Given the description of an element on the screen output the (x, y) to click on. 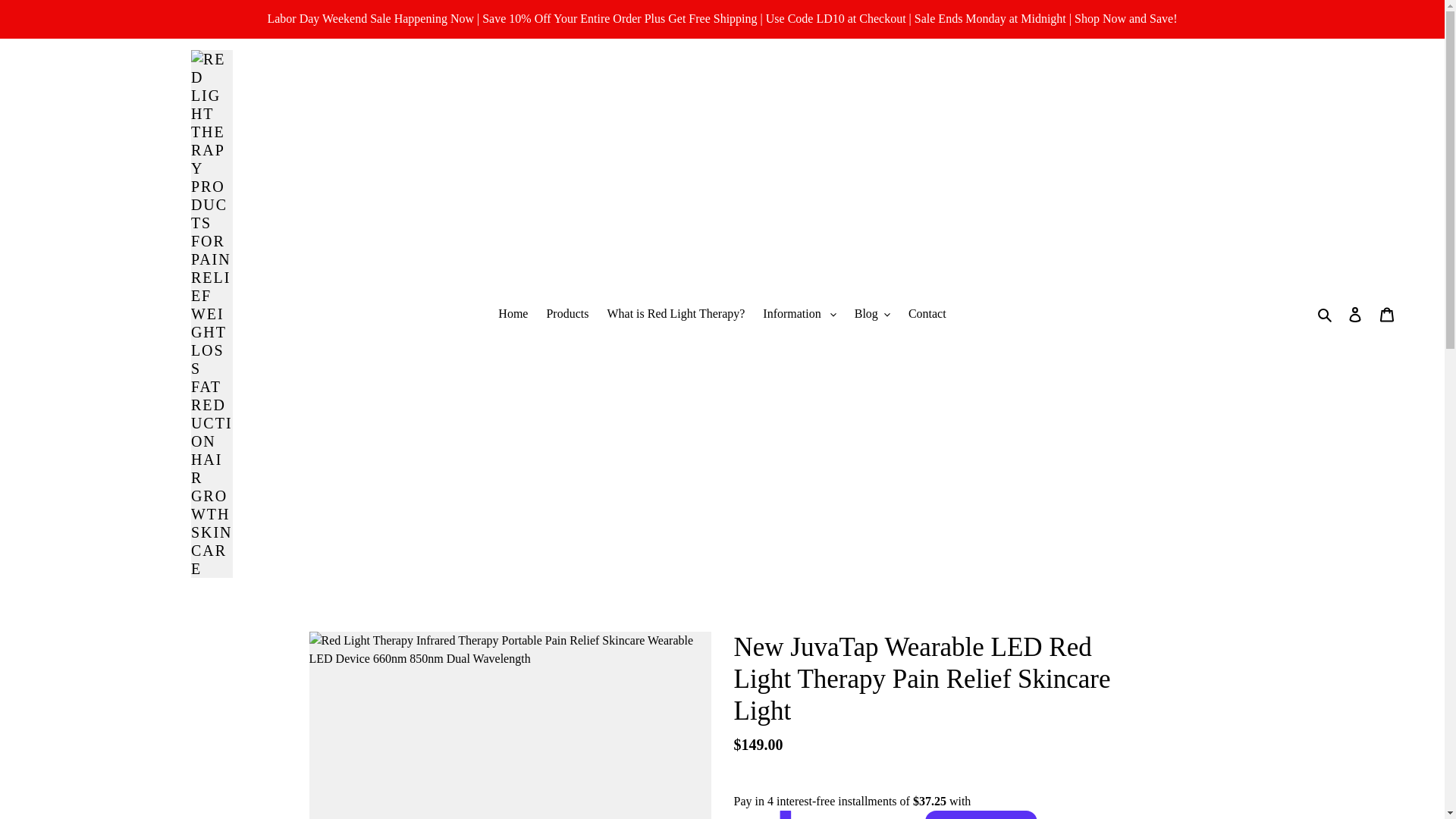
What is Red Light Therapy? (675, 313)
Information (799, 313)
Search (1326, 313)
Contact (927, 313)
Blog (872, 313)
Home (512, 313)
Products (566, 313)
Cart (1387, 313)
Log in (1355, 313)
